Given the description of an element on the screen output the (x, y) to click on. 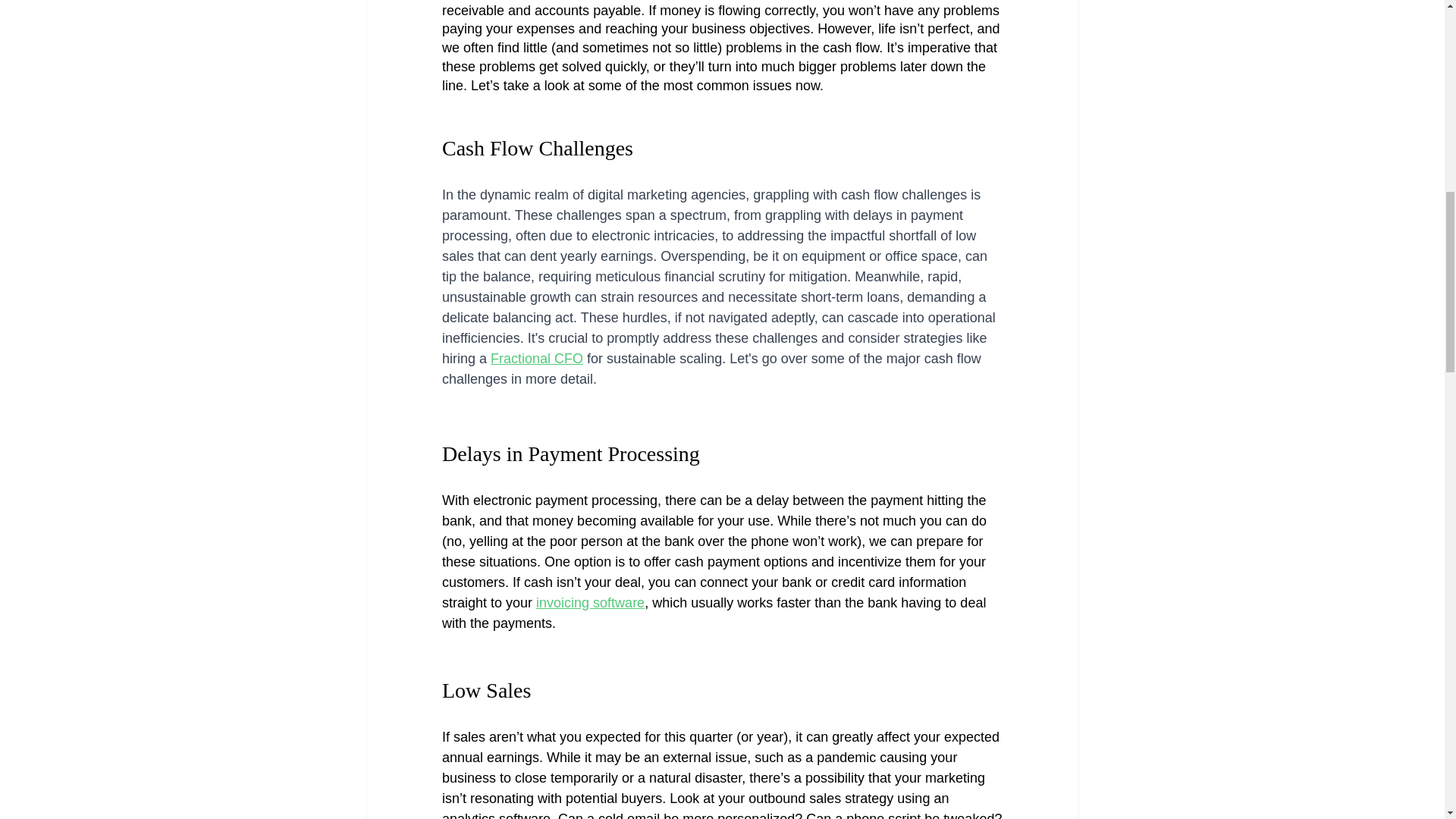
invoicing software (590, 602)
Fractional CFO (536, 358)
